Given the description of an element on the screen output the (x, y) to click on. 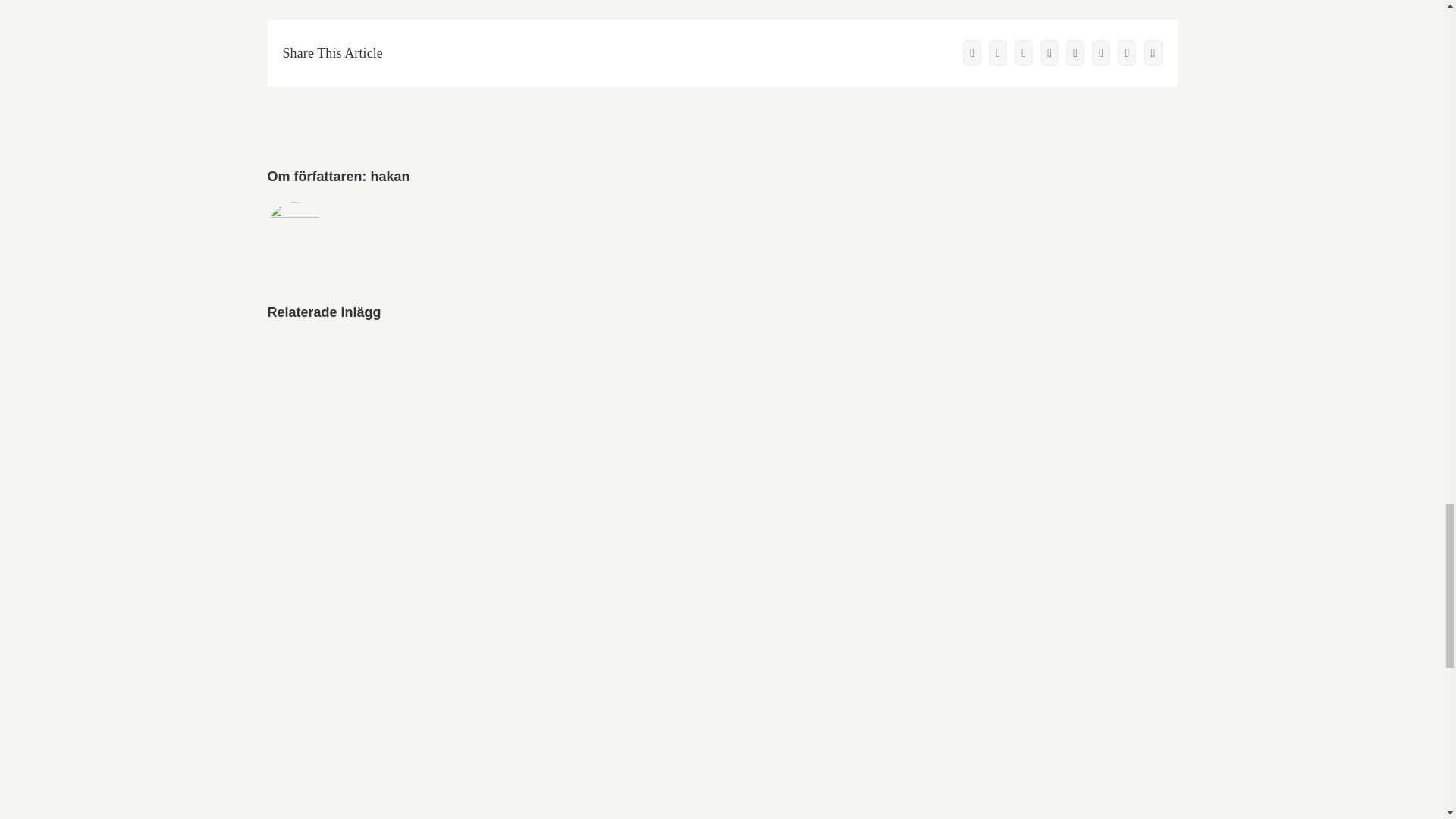
hakan (390, 176)
